Given the description of an element on the screen output the (x, y) to click on. 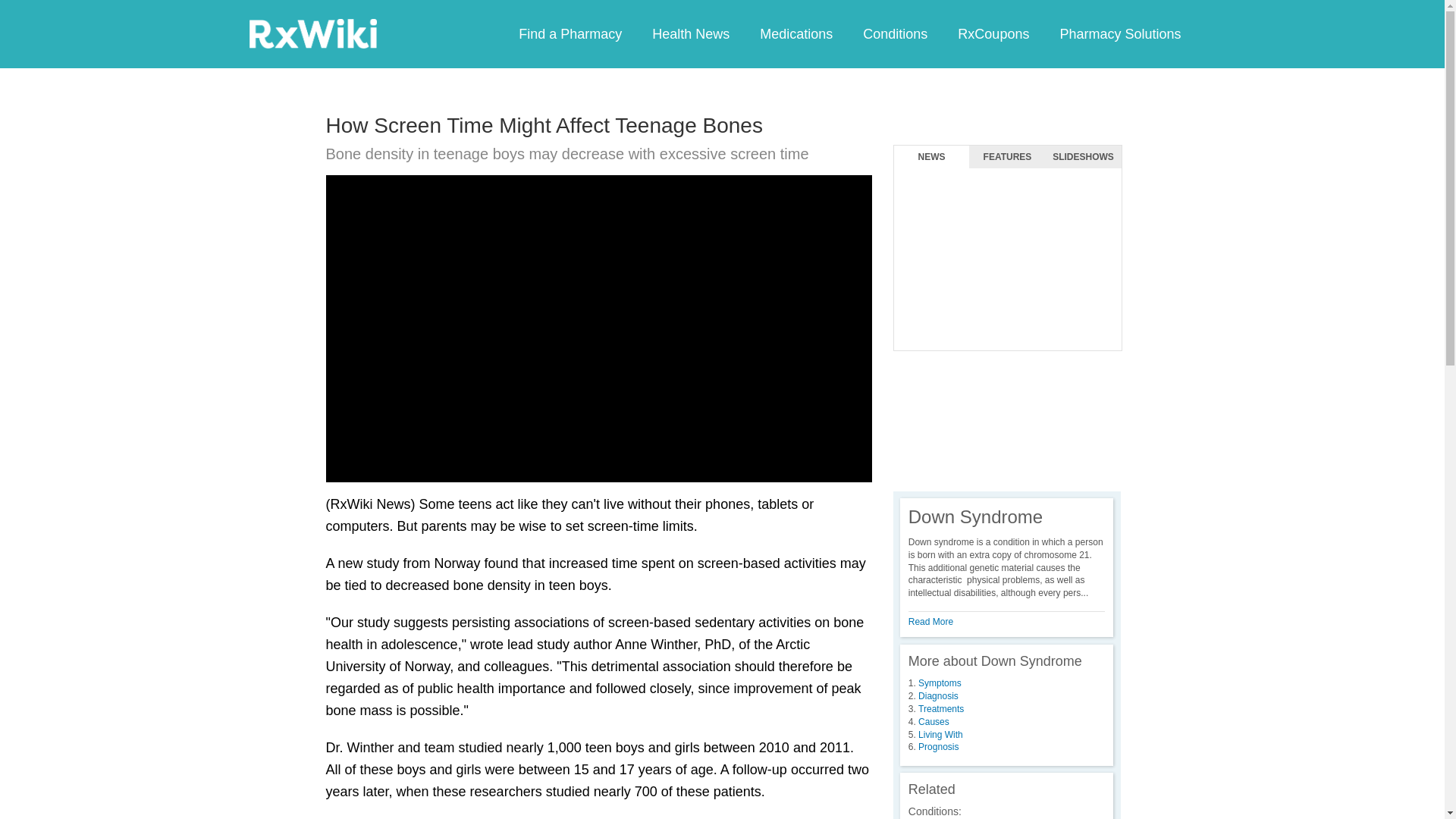
RxCoupons (992, 33)
Pharmacy Solutions (1119, 33)
RxWiki (312, 32)
Health News (690, 33)
Conditions (894, 33)
SLIDESHOWS (1083, 156)
Read More (930, 621)
NEWS (931, 156)
Medications (795, 33)
FEATURES (1007, 156)
Find a Pharmacy (570, 33)
